Given the description of an element on the screen output the (x, y) to click on. 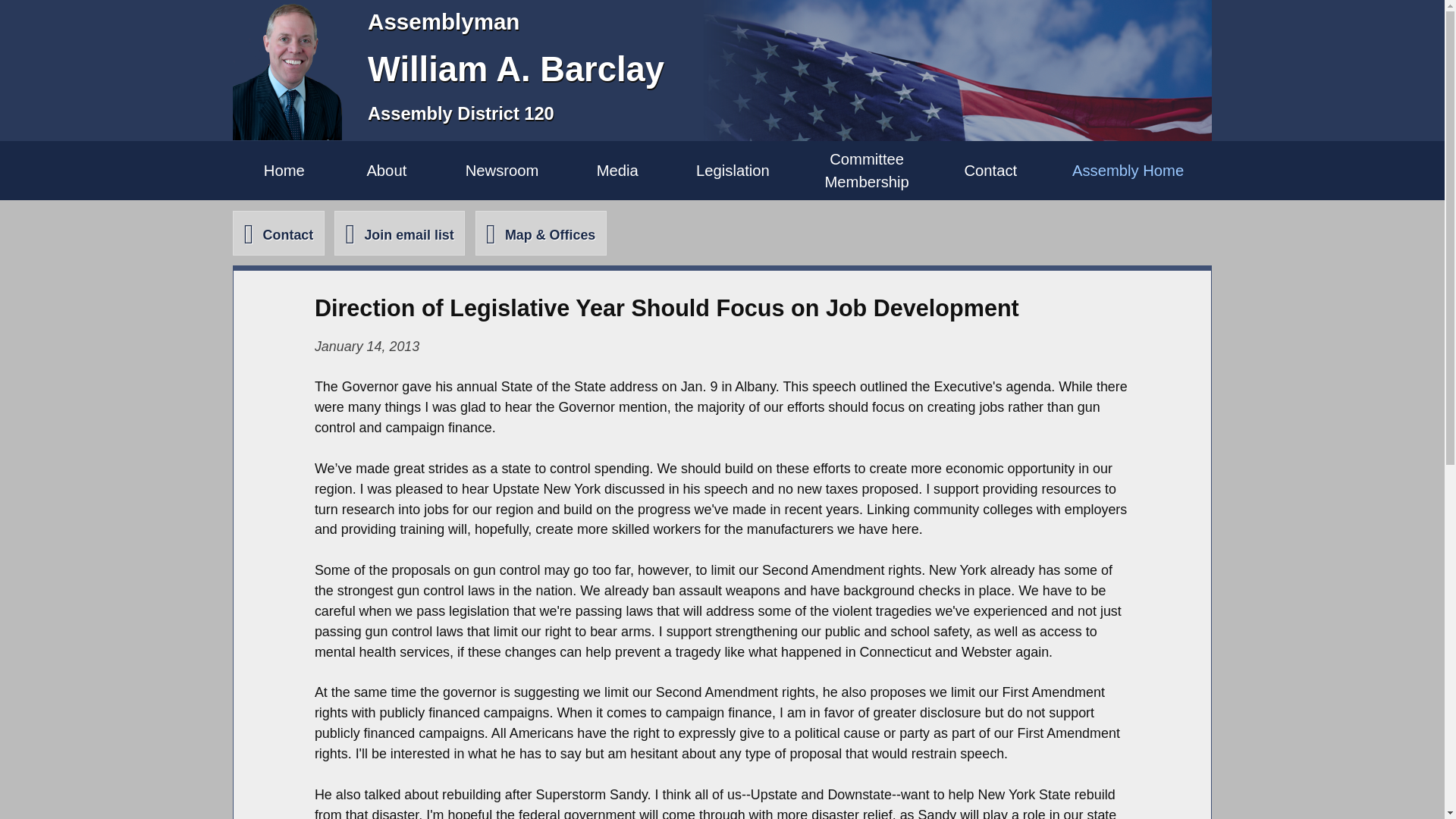
Contact (277, 232)
Newsroom (502, 169)
About (386, 169)
Assembly Home (1128, 169)
Contact (989, 169)
Legislation (732, 169)
Join email list (399, 232)
Home (283, 169)
Media (866, 169)
